Given the description of an element on the screen output the (x, y) to click on. 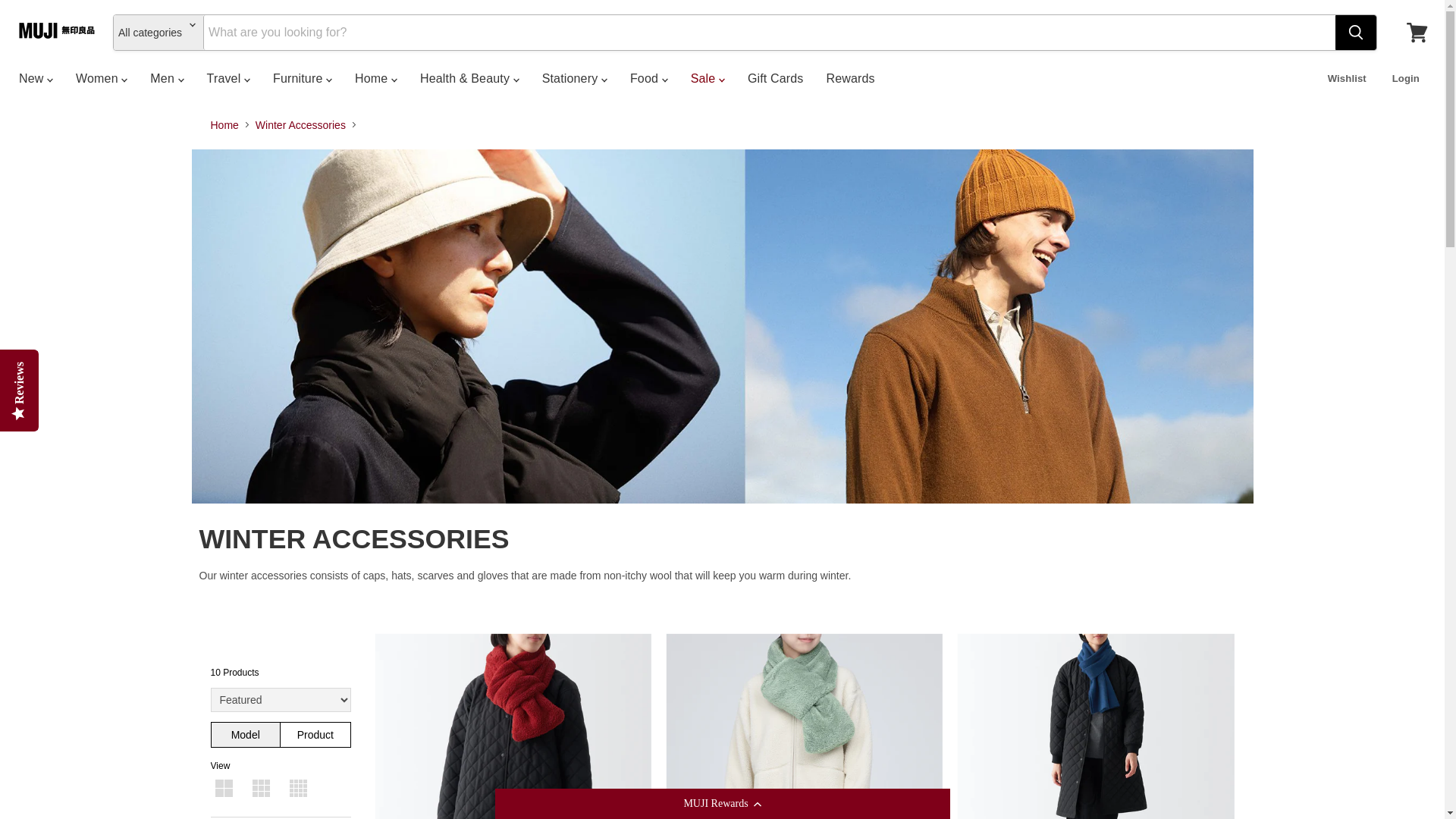
View cart (1417, 32)
